Given the description of an element on the screen output the (x, y) to click on. 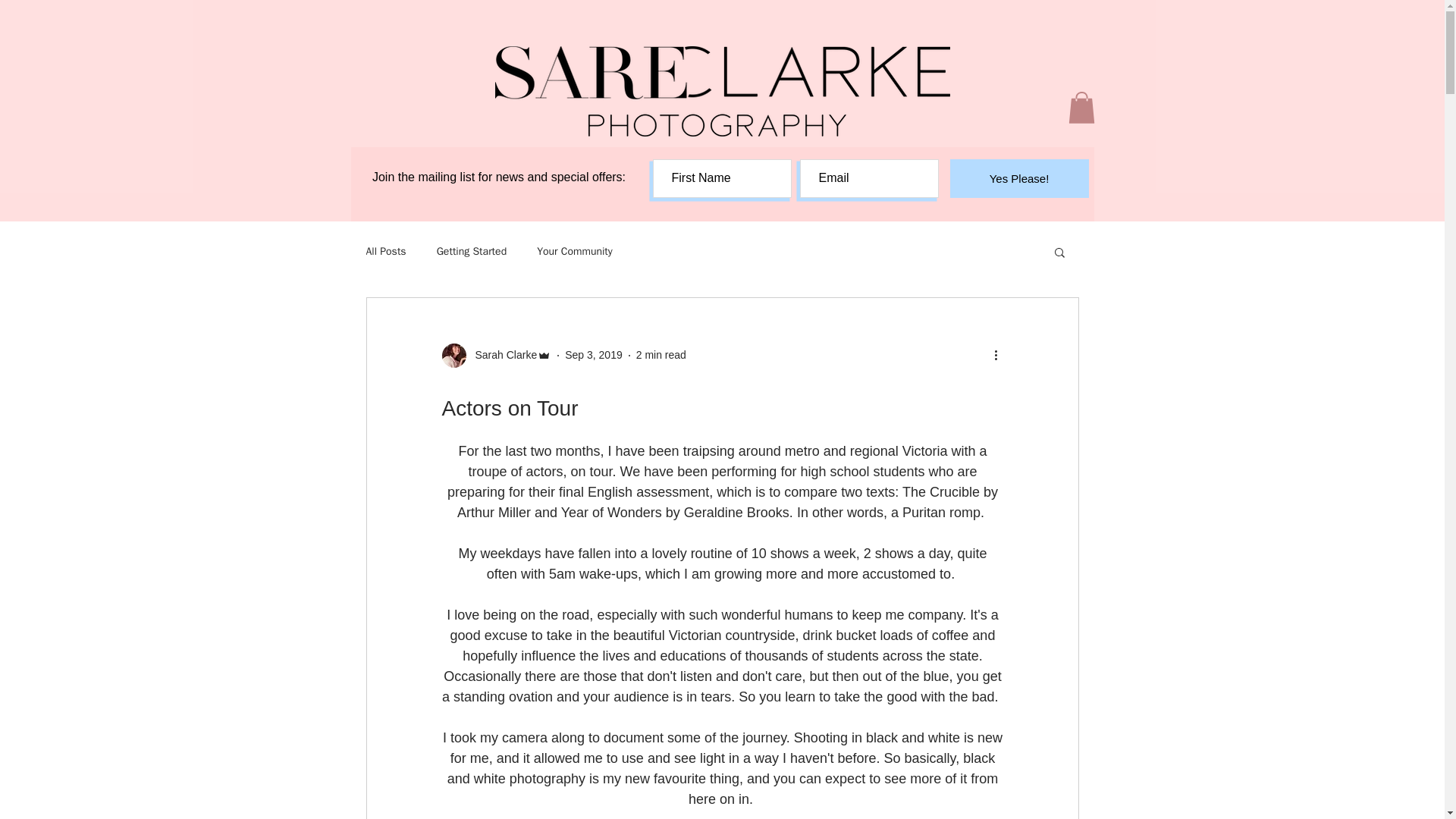
All Posts (385, 251)
Yes Please! (1018, 178)
Getting Started (471, 251)
Sep 3, 2019 (593, 354)
Sarah Clarke (496, 355)
Your Community (574, 251)
2 min read (660, 354)
Sarah Clarke (501, 355)
